Given the description of an element on the screen output the (x, y) to click on. 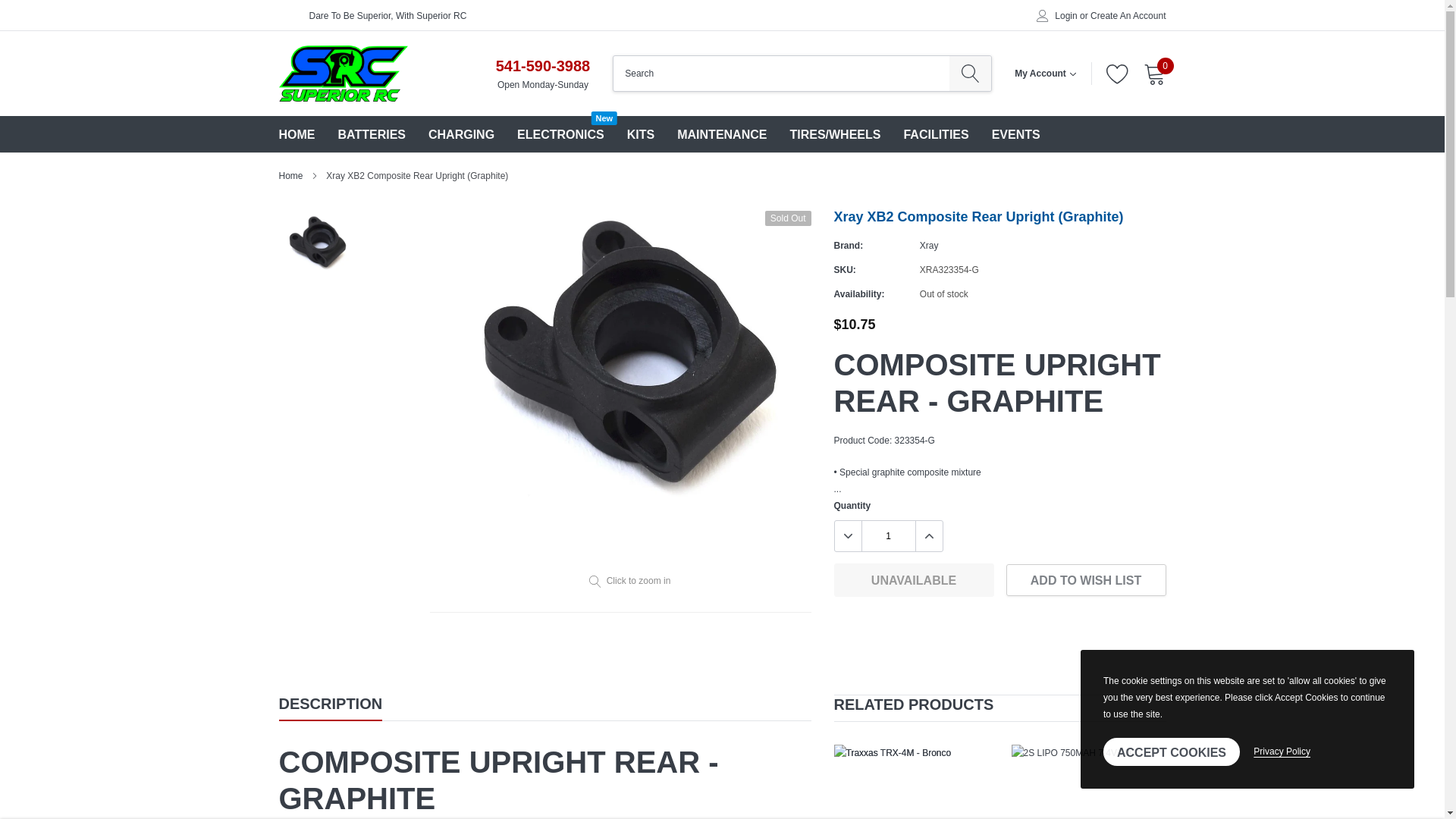
HOME (297, 133)
Xray (929, 245)
BATTERIES (371, 133)
541-590-3988 (543, 65)
Create An Account (1128, 15)
search (970, 73)
CHARGING (461, 133)
0 (560, 133)
My Account (1154, 73)
